Given the description of an element on the screen output the (x, y) to click on. 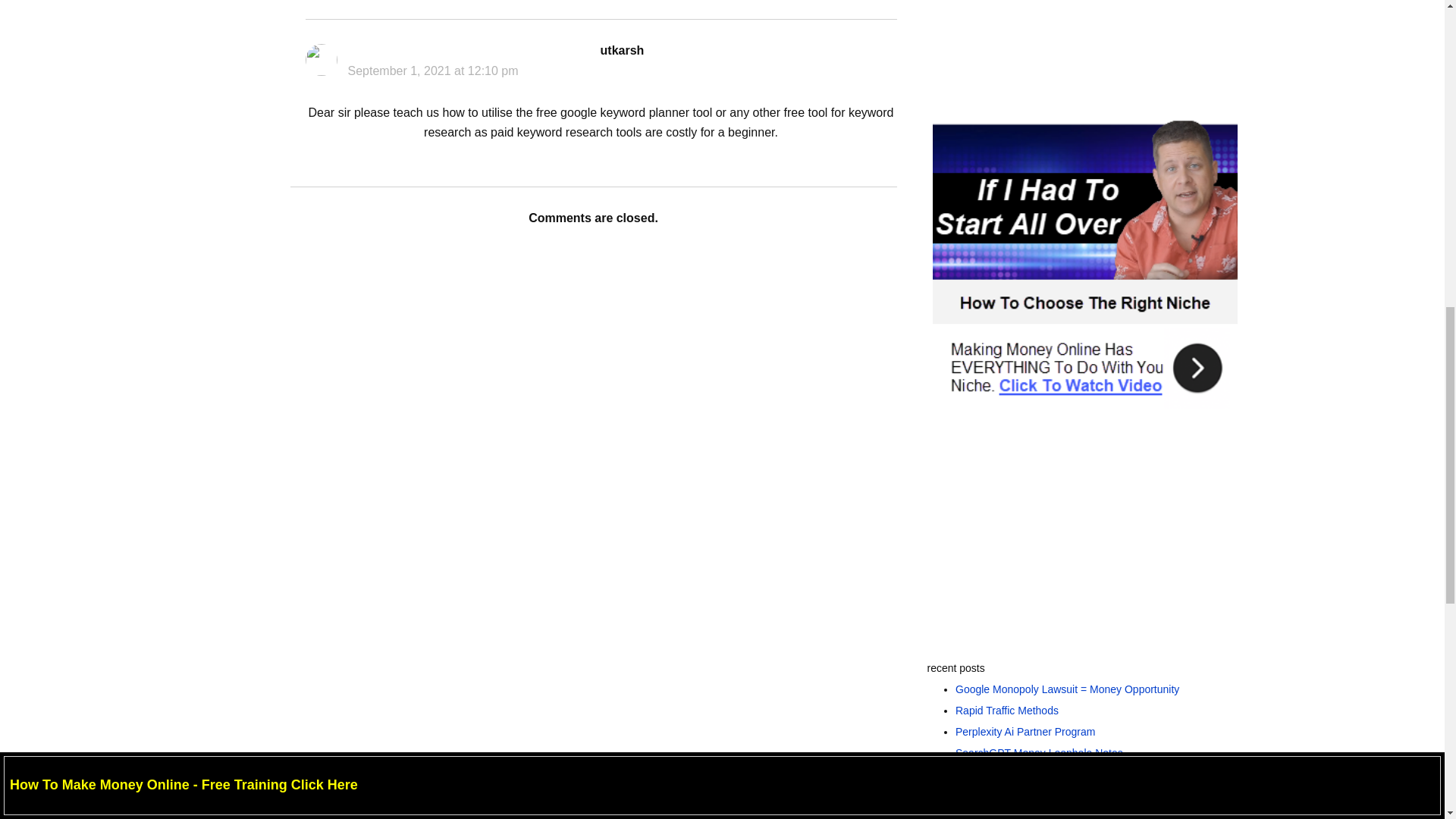
SearchGPT Money Loophole Notes (1038, 752)
Perplexity Ai Partner Program (1024, 731)
September 1, 2021 at 12:10 pm (432, 70)
Rapid Traffic Methods (1006, 710)
Using Ai And Google Search Operators To Make Money Online (1086, 804)
